Given the description of an element on the screen output the (x, y) to click on. 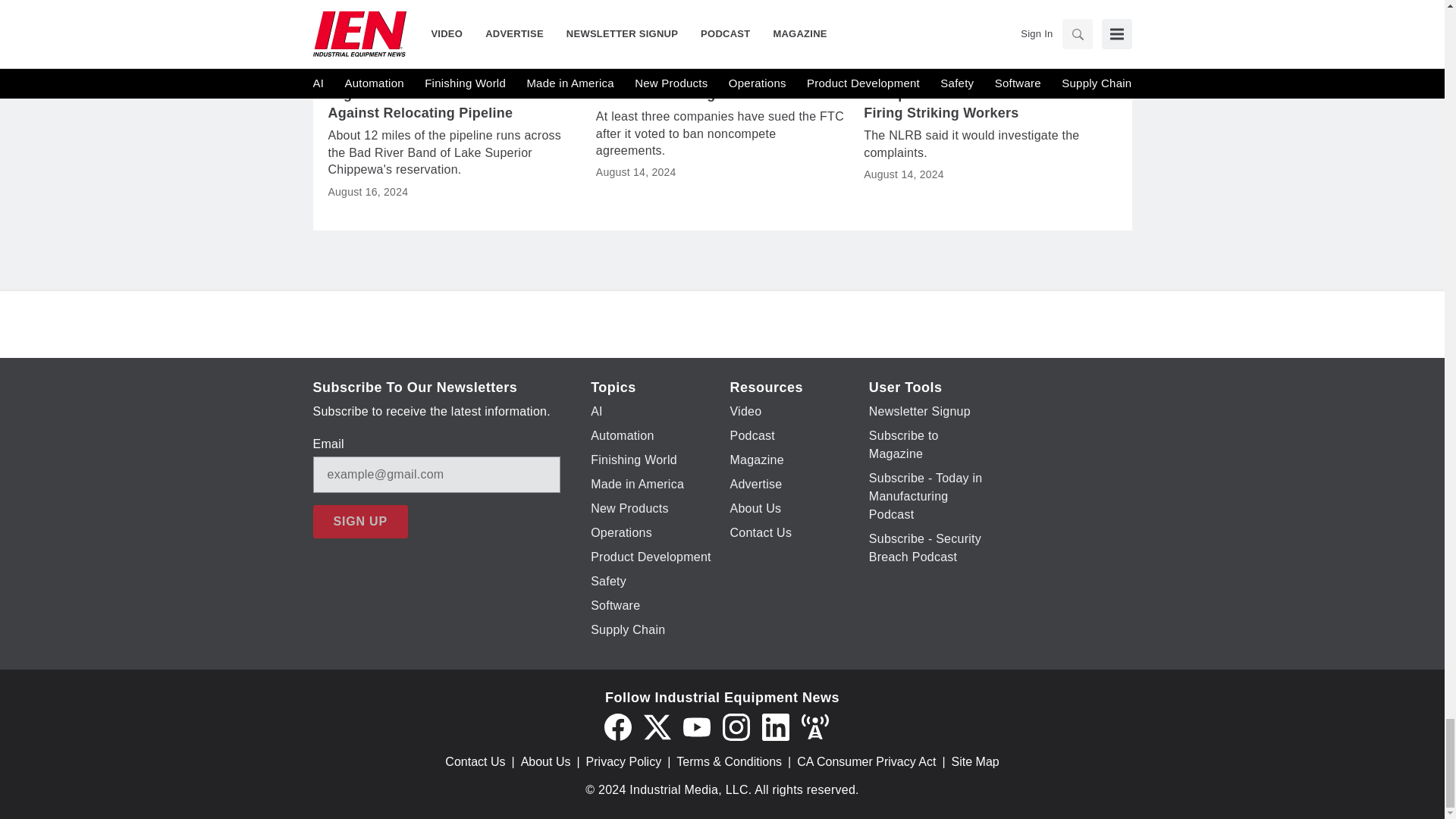
YouTube icon (696, 727)
Twitter X icon (656, 727)
Instagram icon (735, 727)
Facebook icon (617, 727)
LinkedIn icon (775, 727)
